Given the description of an element on the screen output the (x, y) to click on. 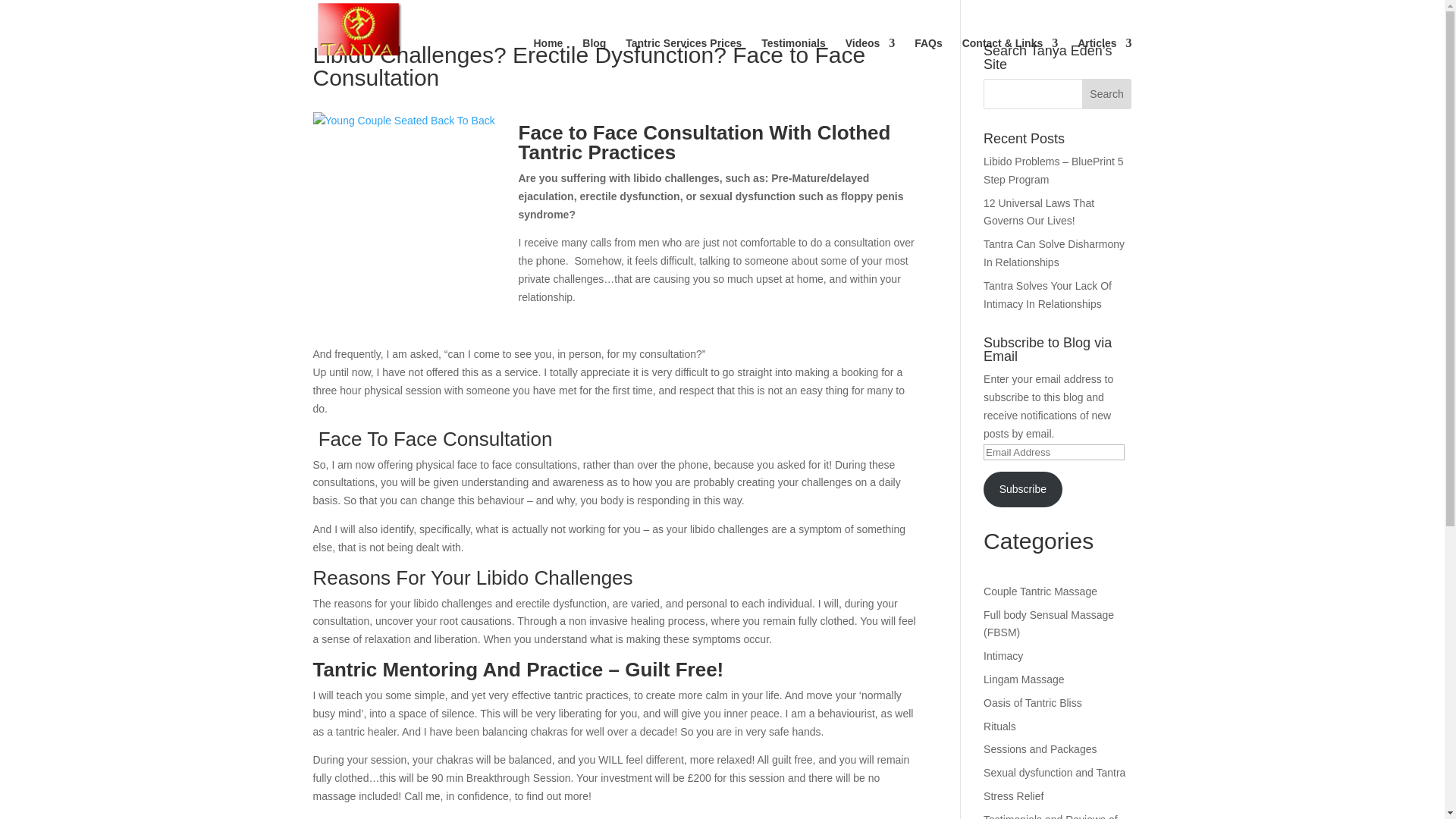
Articles (1104, 61)
Subscribe (1023, 488)
Couple Tantric Massage (1040, 591)
Tantra Can Solve Disharmony In Relationships (1054, 253)
Tantric Services Prices (683, 61)
Videos (870, 61)
Testimonials (793, 61)
Search (1106, 93)
Tantra Solves Your Lack Of Intimacy In Relationships (1048, 295)
Search (1106, 93)
